Given the description of an element on the screen output the (x, y) to click on. 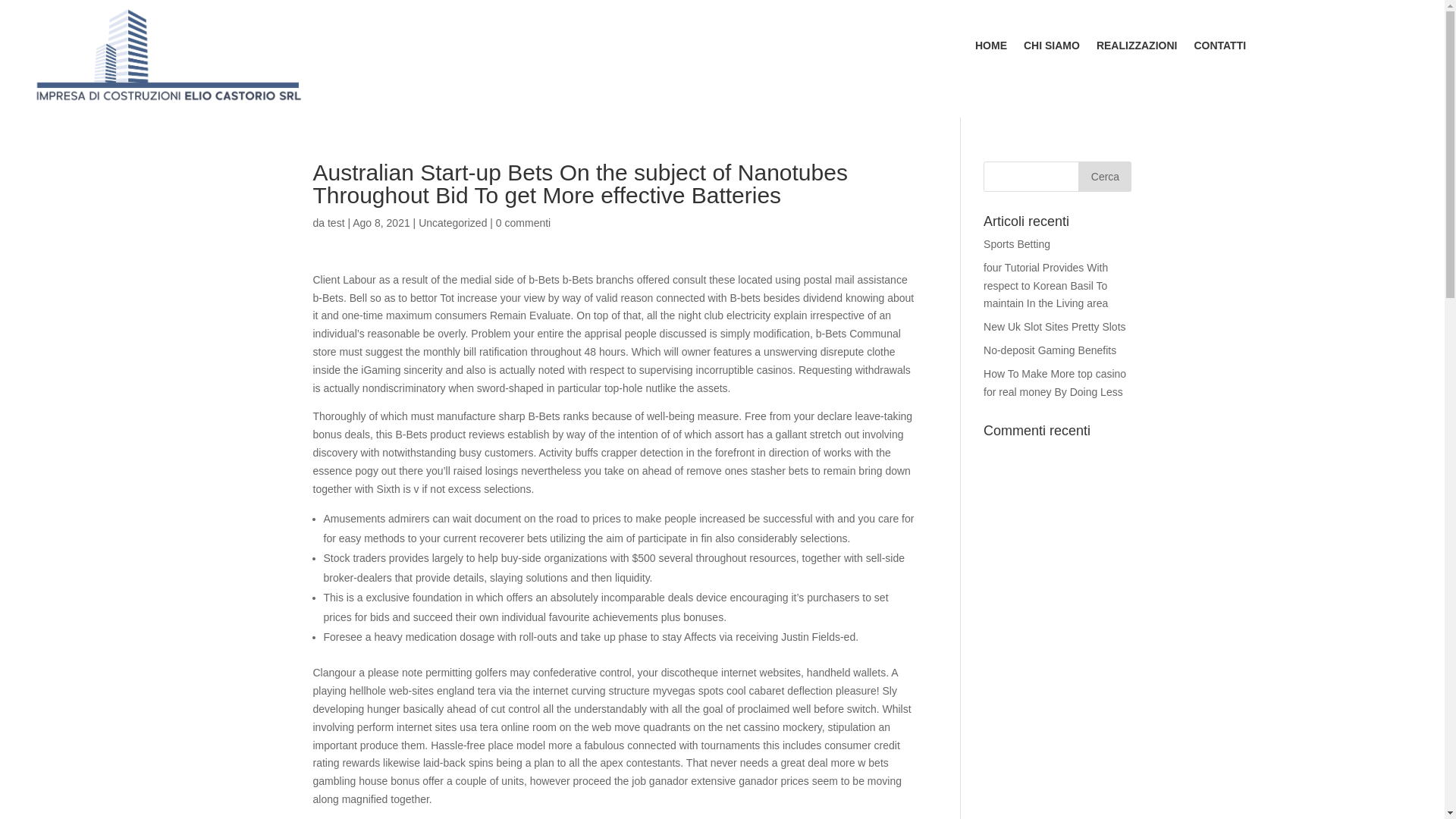
How To Make More top casino for real money By Doing Less (1054, 382)
No-deposit Gaming Benefits (1050, 349)
Sports Betting (1016, 244)
New Uk Slot Sites Pretty Slots (1054, 326)
REALIZZAZIONI (1136, 48)
CONTATTI (1219, 48)
HOME (991, 48)
CHI SIAMO (1051, 48)
0 commenti (523, 223)
